Given the description of an element on the screen output the (x, y) to click on. 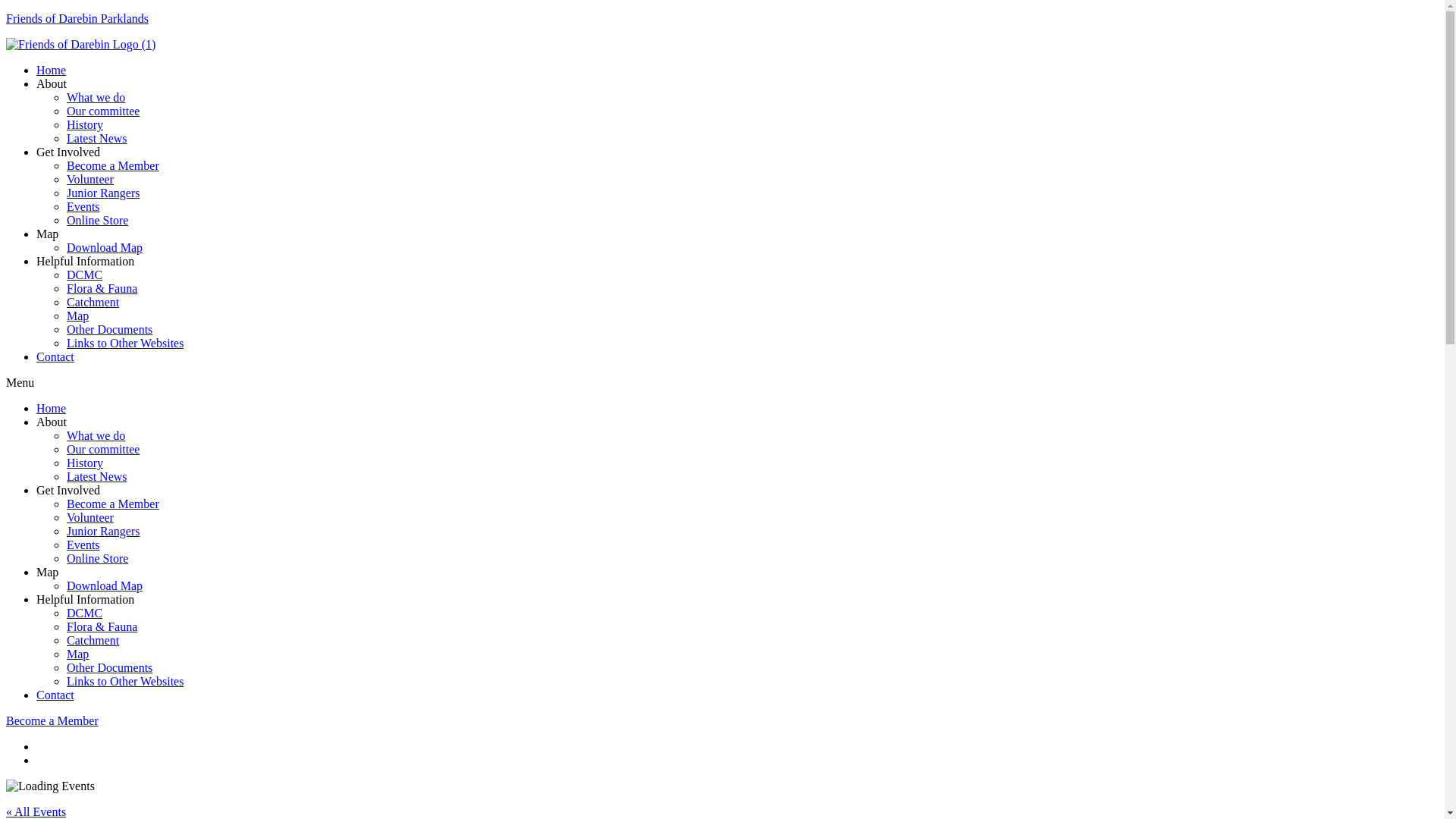
Map Element type: text (77, 315)
Catchment Element type: text (92, 639)
History Element type: text (84, 124)
Links to Other Websites Element type: text (124, 680)
Junior Rangers Element type: text (102, 192)
Our committee Element type: text (102, 448)
Other Documents Element type: text (109, 329)
Volunteer Element type: text (89, 517)
Volunteer Element type: text (89, 178)
History Element type: text (84, 462)
Download Map Element type: text (104, 247)
Map Element type: text (47, 233)
Get Involved Element type: text (68, 151)
Become a Member Element type: text (112, 165)
Catchment Element type: text (92, 301)
Map Element type: text (77, 653)
About Element type: text (51, 83)
DCMC Element type: text (84, 612)
Contact Element type: text (55, 694)
Links to Other Websites Element type: text (124, 342)
Helpful Information Element type: text (85, 599)
Other Documents Element type: text (109, 667)
Latest News Element type: text (96, 137)
Helpful Information Element type: text (85, 260)
Latest News Element type: text (96, 476)
DCMC Element type: text (84, 274)
Download Map Element type: text (104, 585)
Contact Element type: text (55, 356)
Flora & Fauna Element type: text (101, 288)
What we do Element type: text (95, 435)
Friends of Darebin Parklands Element type: text (77, 18)
About Element type: text (51, 421)
Home Element type: text (50, 407)
Our committee Element type: text (102, 110)
What we do Element type: text (95, 97)
Junior Rangers Element type: text (102, 530)
Events Element type: text (83, 206)
Map Element type: text (47, 571)
Online Store Element type: text (97, 558)
Become a Member Element type: text (52, 720)
Events Element type: text (83, 544)
Flora & Fauna Element type: text (101, 626)
Get Involved Element type: text (68, 489)
Online Store Element type: text (97, 219)
Become a Member Element type: text (112, 503)
Home Element type: text (50, 69)
